Given the description of an element on the screen output the (x, y) to click on. 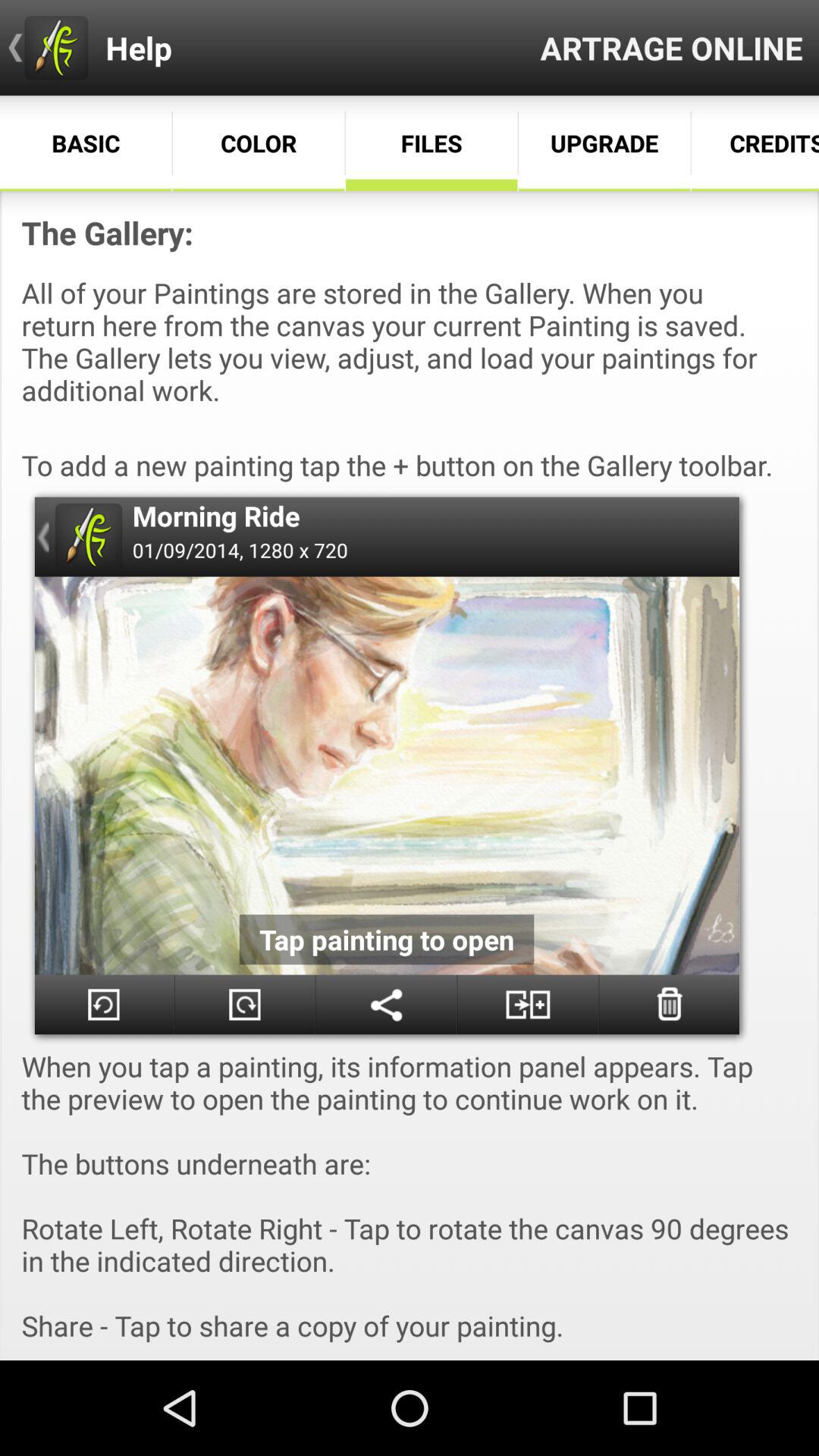
select item to the right of the help icon (671, 47)
